Given the description of an element on the screen output the (x, y) to click on. 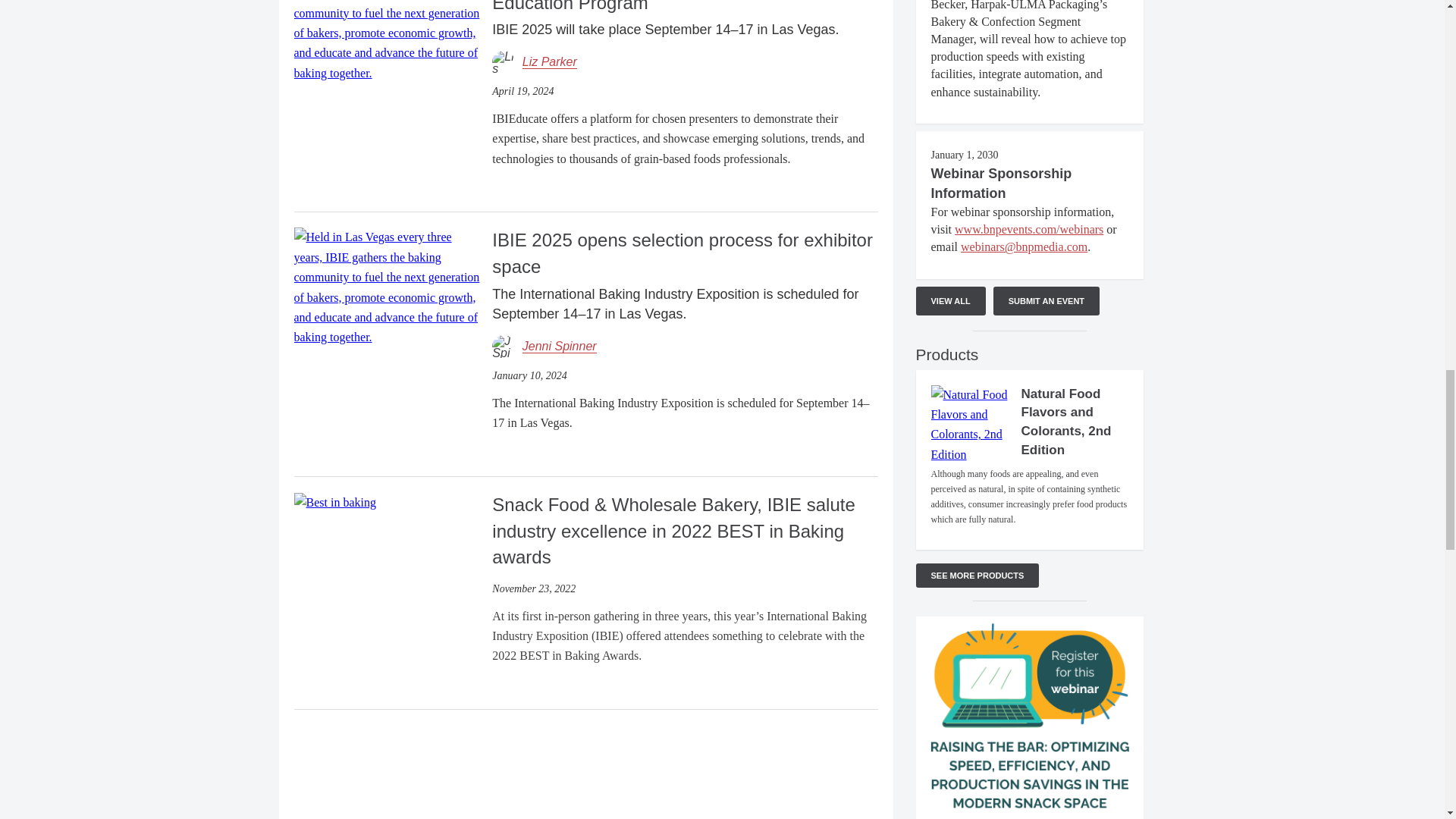
IBIEducate seeks presenters for IBIE 2025 Education Program (387, 21)
IBIE 2025 opens selection process for exhibitor space (387, 286)
